Given the description of an element on the screen output the (x, y) to click on. 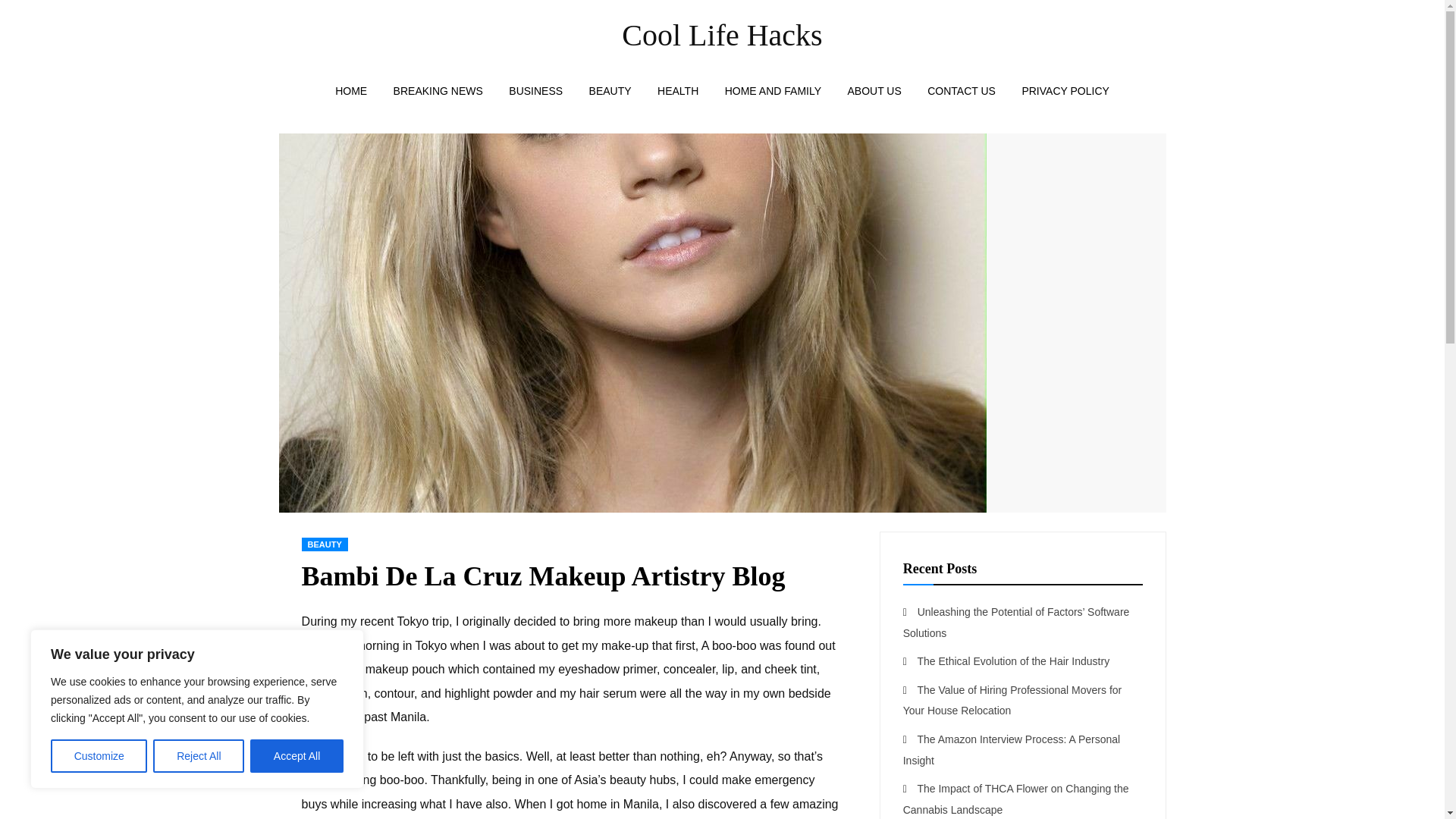
Reject All (198, 756)
The Amazon Interview Process: A Personal Insight (1010, 749)
PRIVACY POLICY (1064, 90)
ABOUT US (873, 90)
HOME (350, 90)
BEAUTY (324, 544)
Bambi De La Cruz Makeup Artistry Blog (633, 508)
The Ethical Evolution of the Hair Industry (1013, 661)
Customize (98, 756)
BREAKING NEWS (438, 90)
BUSINESS (535, 90)
HOME AND FAMILY (772, 90)
Accept All (296, 756)
HEALTH (678, 90)
